Given the description of an element on the screen output the (x, y) to click on. 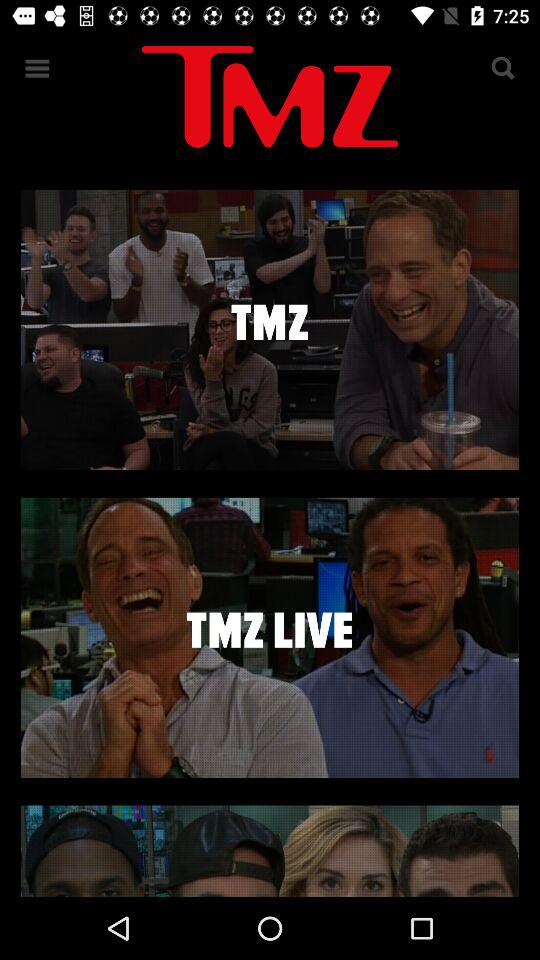
home (269, 100)
